Given the description of an element on the screen output the (x, y) to click on. 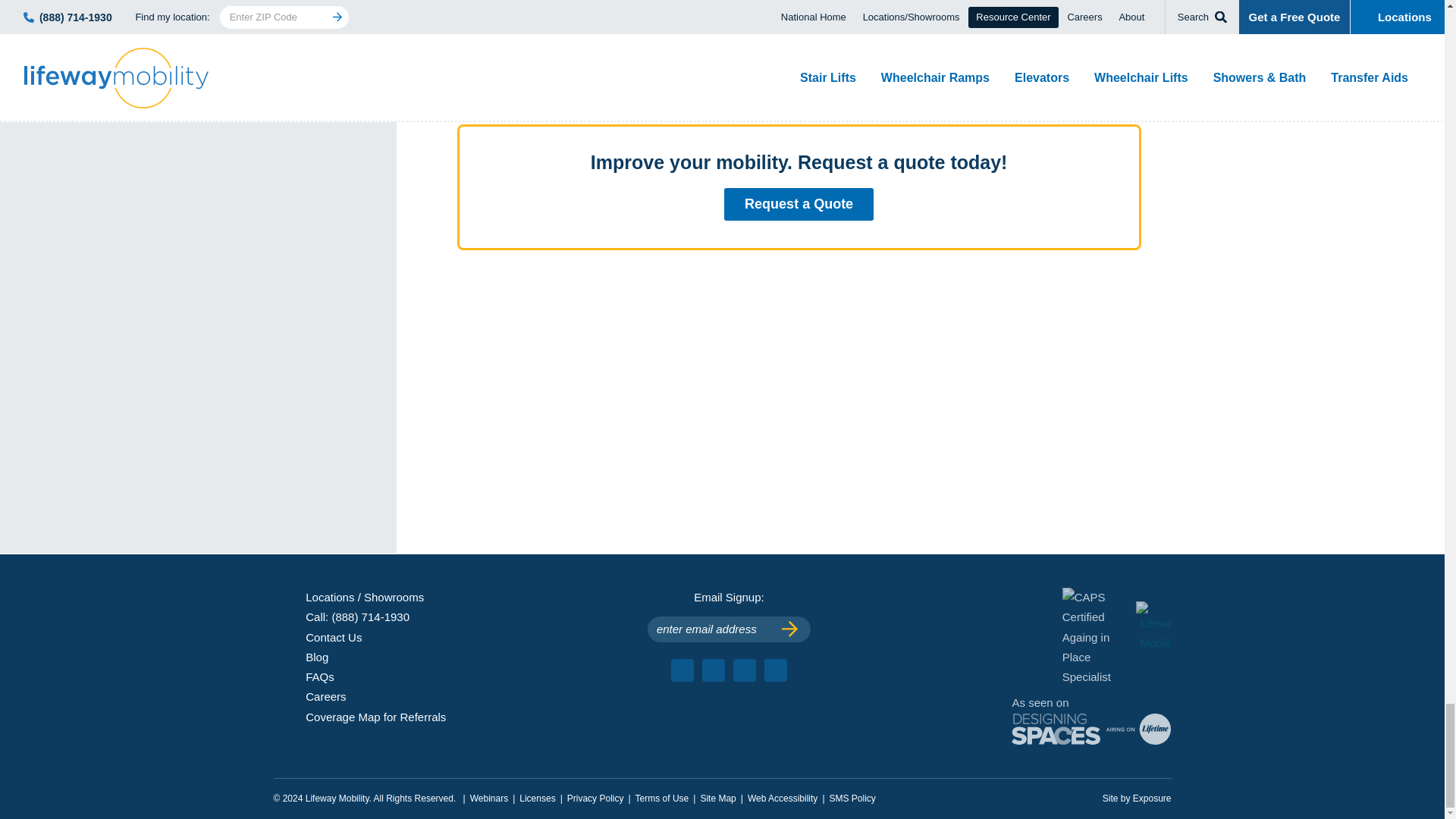
Share on LinkedIn (507, 73)
Watch Us on Youtube (713, 670)
Follow Us on LinkedIn (775, 670)
Like Us on Facebook (682, 670)
Share on Facebook (464, 73)
Follow Us on Twitter (744, 670)
Share on Twitter (486, 73)
